Given the description of an element on the screen output the (x, y) to click on. 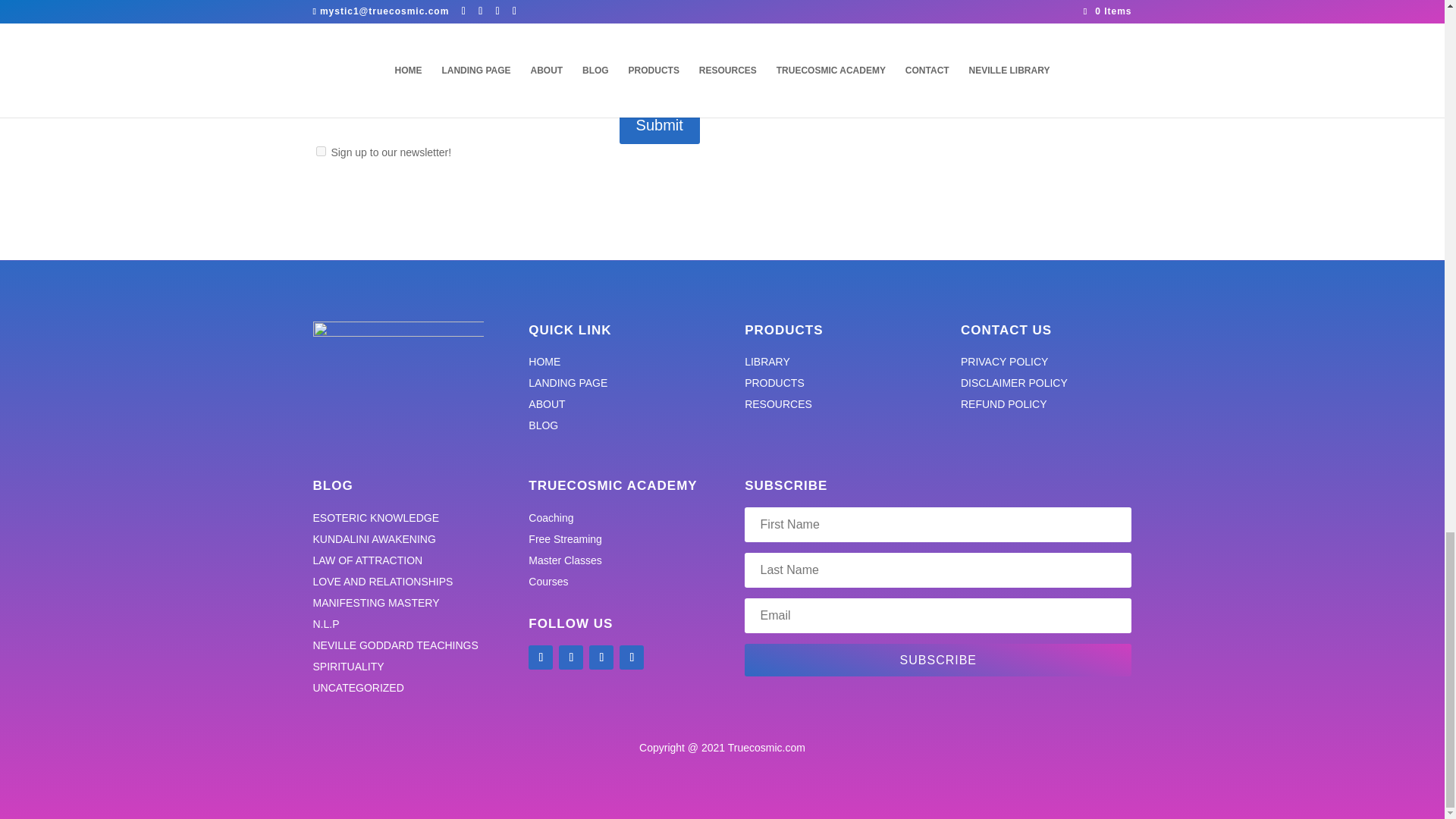
BLOG (542, 425)
HOME (544, 361)
Follow on Instagram (631, 657)
loo (398, 369)
RESOURCES (778, 404)
LANDING PAGE (567, 382)
Follow on Facebook (540, 657)
PRODUCTS (774, 382)
ABOUT (546, 404)
Follow on X (571, 657)
